Given the description of an element on the screen output the (x, y) to click on. 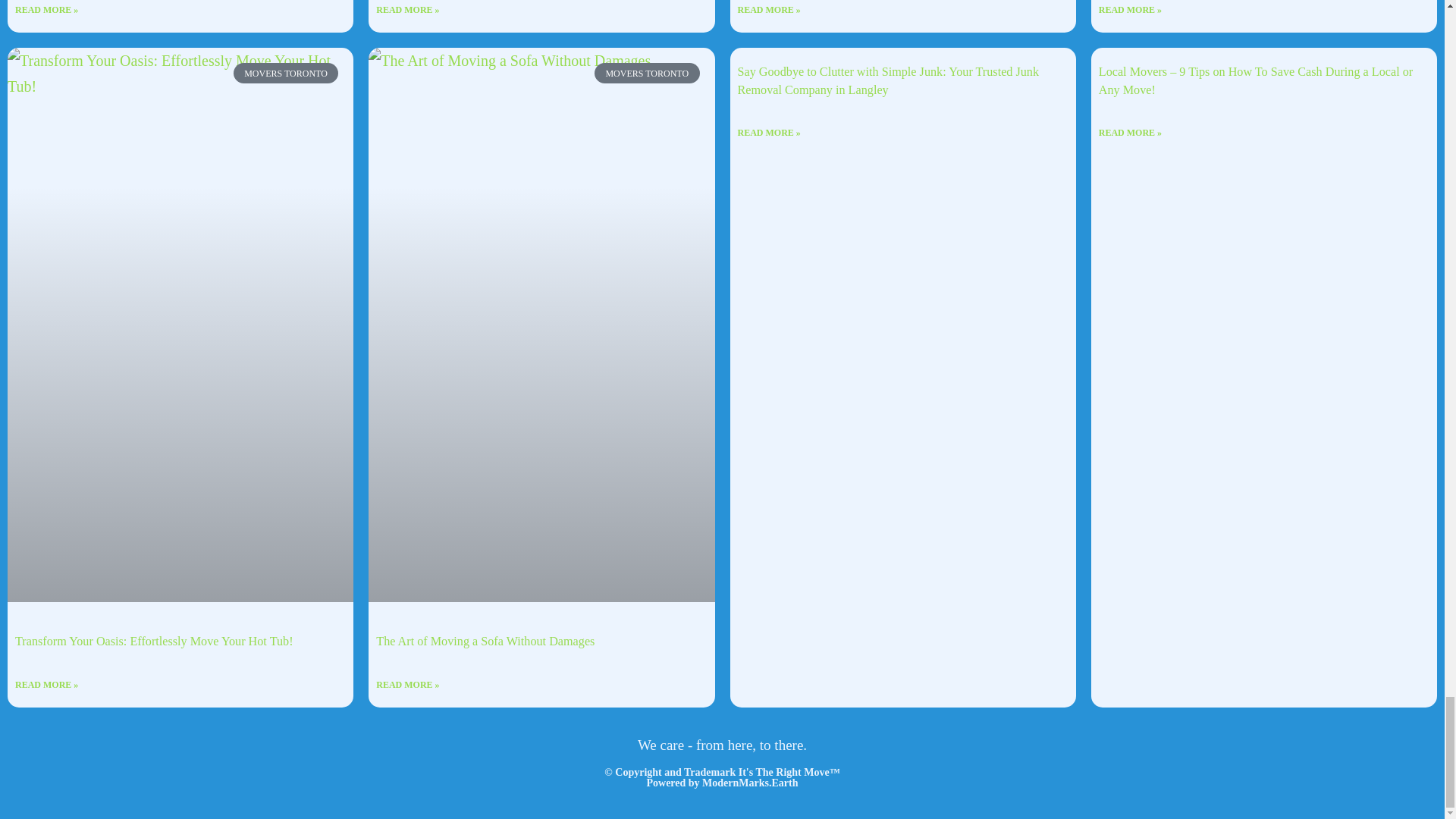
The Art of Moving a Sofa Without Damages (541, 220)
Transform Your Oasis: Effortlessly Move Your Hot Tub! (180, 220)
